Given the description of an element on the screen output the (x, y) to click on. 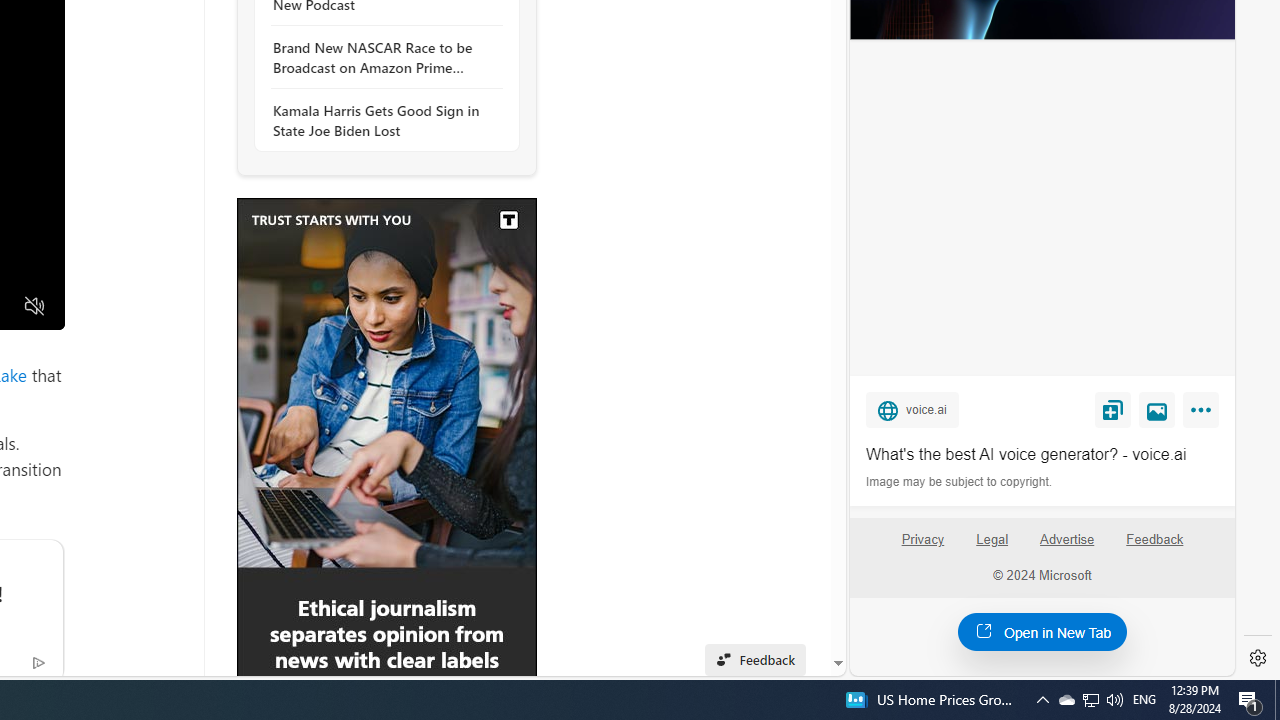
Legal (992, 547)
Privacy (922, 547)
Unmute (34, 306)
What's the best AI voice generator? - voice.ai (1042, 454)
Image may be subject to copyright. (959, 481)
Save (1112, 409)
voice.ai (912, 409)
Legal (991, 539)
Advertise (1066, 539)
Kamala Harris Gets Good Sign in State Joe Biden Lost (381, 120)
Privacy (922, 539)
Brand New NASCAR Race to be Broadcast on Amazon Prime Video (381, 57)
Ad Choice (38, 661)
Advertise (1067, 547)
